Given the description of an element on the screen output the (x, y) to click on. 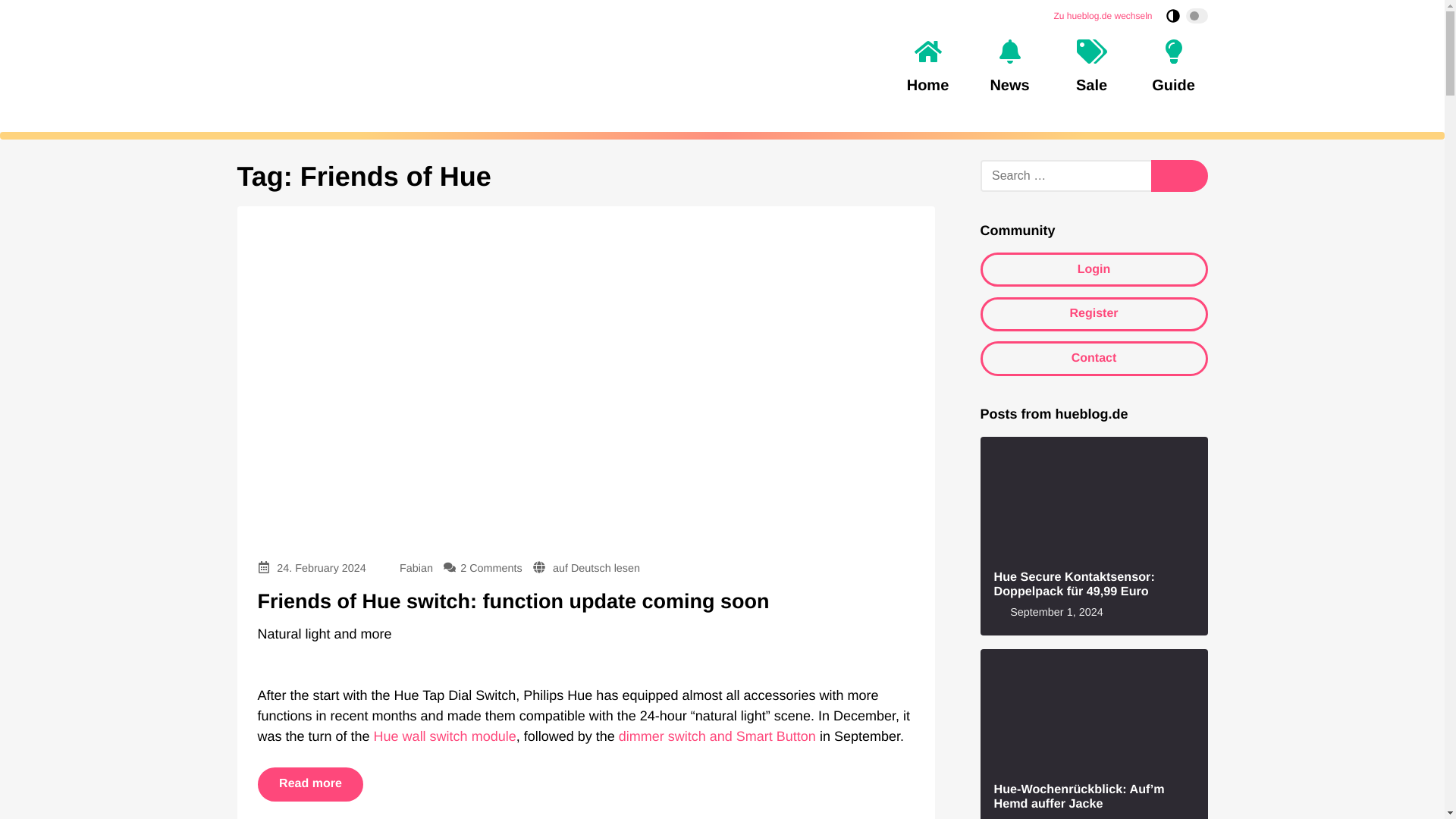
Sale (1091, 66)
Deutsche hueblog.de Seite aufrufen (1101, 15)
Guide (1172, 66)
News (1009, 66)
Zu hueblog.de wechseln (1101, 15)
Read more (310, 784)
auf Deutsch lesen (596, 568)
Home (926, 66)
